Given the description of an element on the screen output the (x, y) to click on. 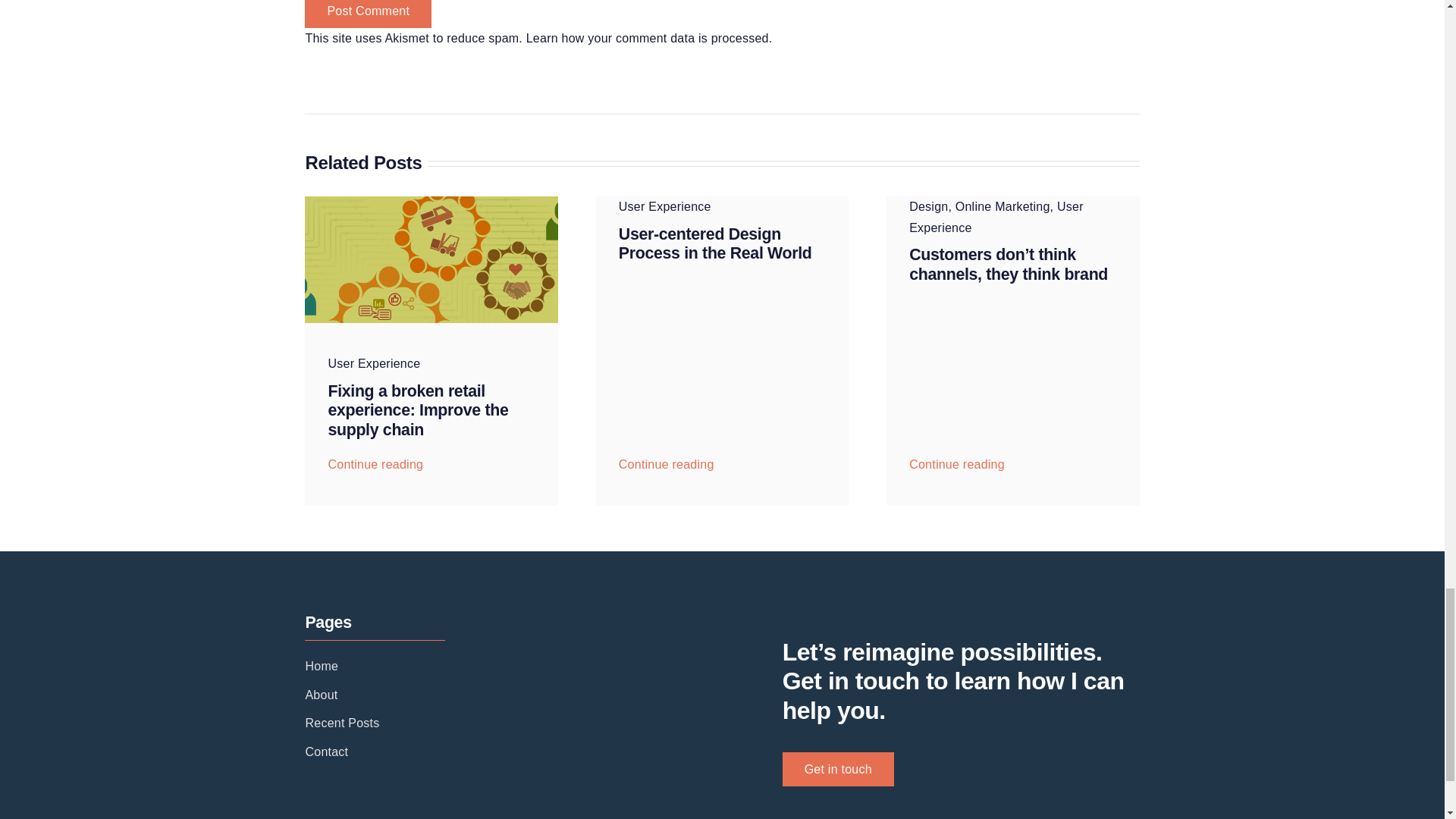
Post Comment (367, 13)
User Experience (664, 205)
Learn how your comment data is processed (646, 38)
User-centered Design Process in the Real World (715, 243)
User Experience (373, 363)
Design (927, 205)
User Experience (664, 205)
Continue reading (665, 459)
Continue reading (374, 459)
Fixing a broken retail experience: Improve the supply chain (417, 410)
